Given the description of an element on the screen output the (x, y) to click on. 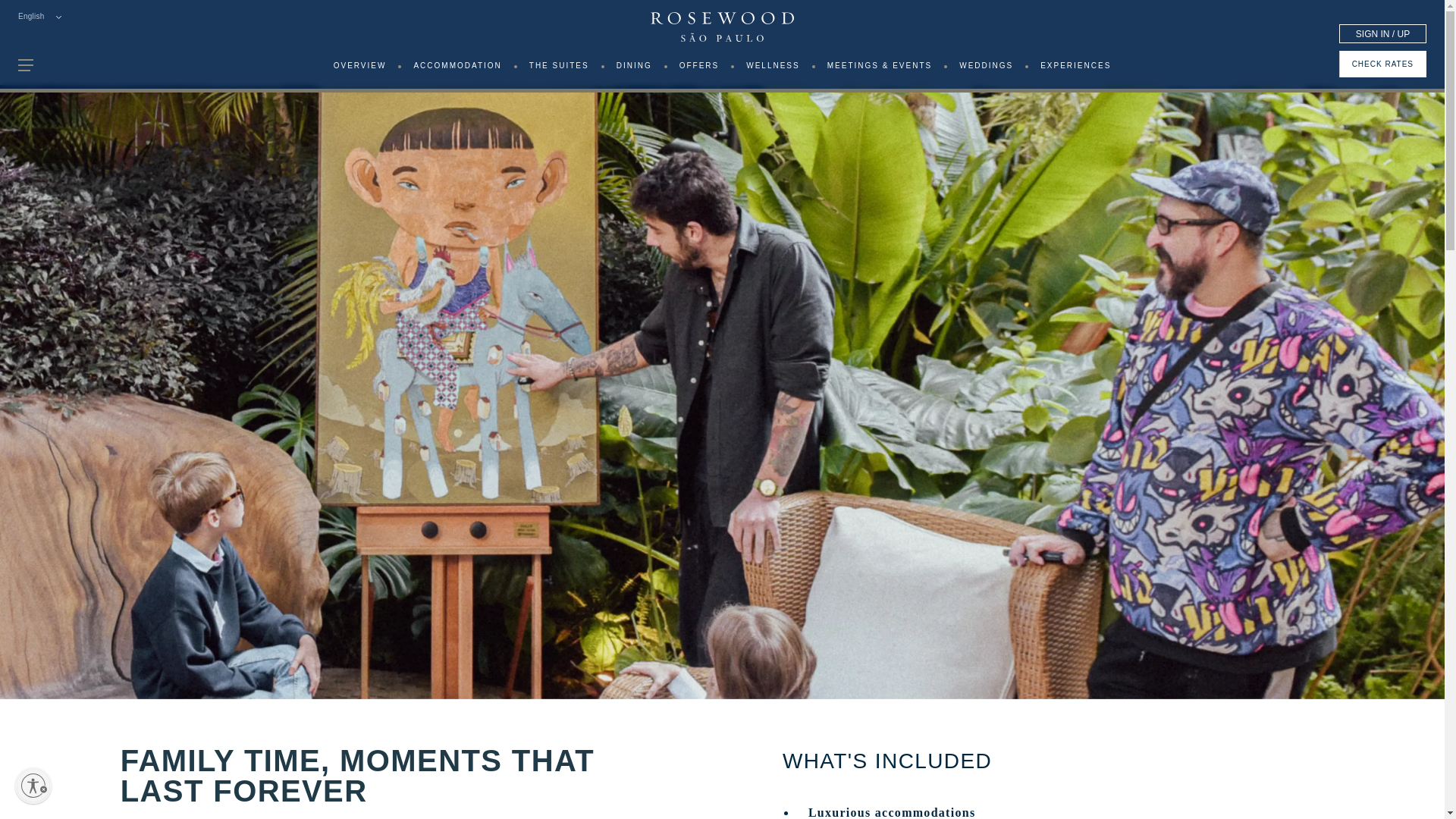
WELLNESS (772, 69)
OVERVIEW (360, 69)
ACCOMMODATION (456, 69)
THE SUITES (559, 69)
DINING (633, 69)
Enable accessibility (32, 785)
OFFERS (699, 69)
